Given the description of an element on the screen output the (x, y) to click on. 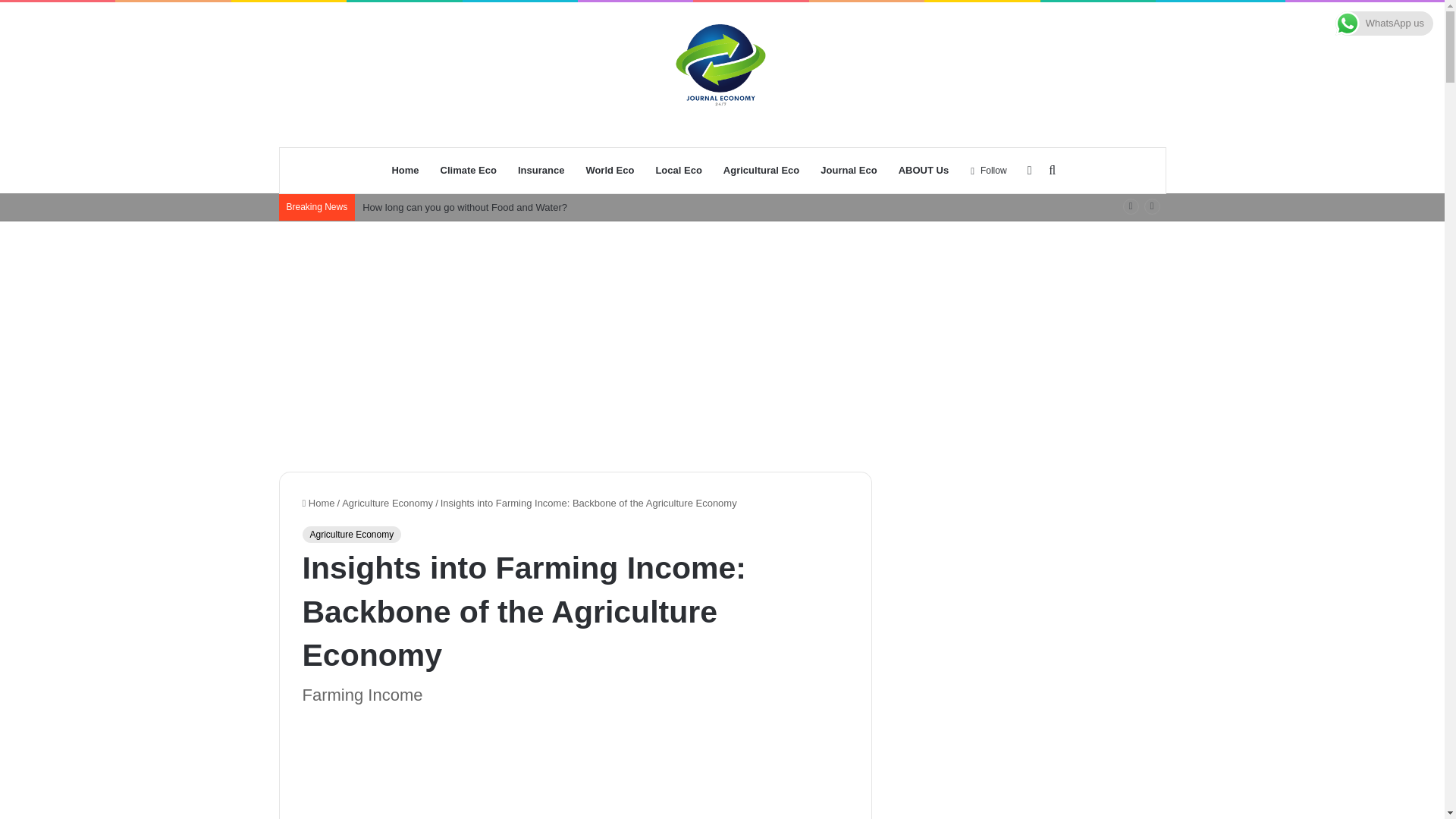
Agricultural Eco (761, 170)
Agriculture Economy (351, 534)
Climate Eco (467, 170)
Local Eco (678, 170)
JOURNAL ECONOMY (721, 74)
Agriculture Economy (387, 502)
ABOUT Us (923, 170)
Home (317, 502)
How long can you go without Food and Water? (464, 206)
Insurance (540, 170)
Follow (988, 170)
Journal Eco (847, 170)
World Eco (610, 170)
Advertisement (574, 769)
